Given the description of an element on the screen output the (x, y) to click on. 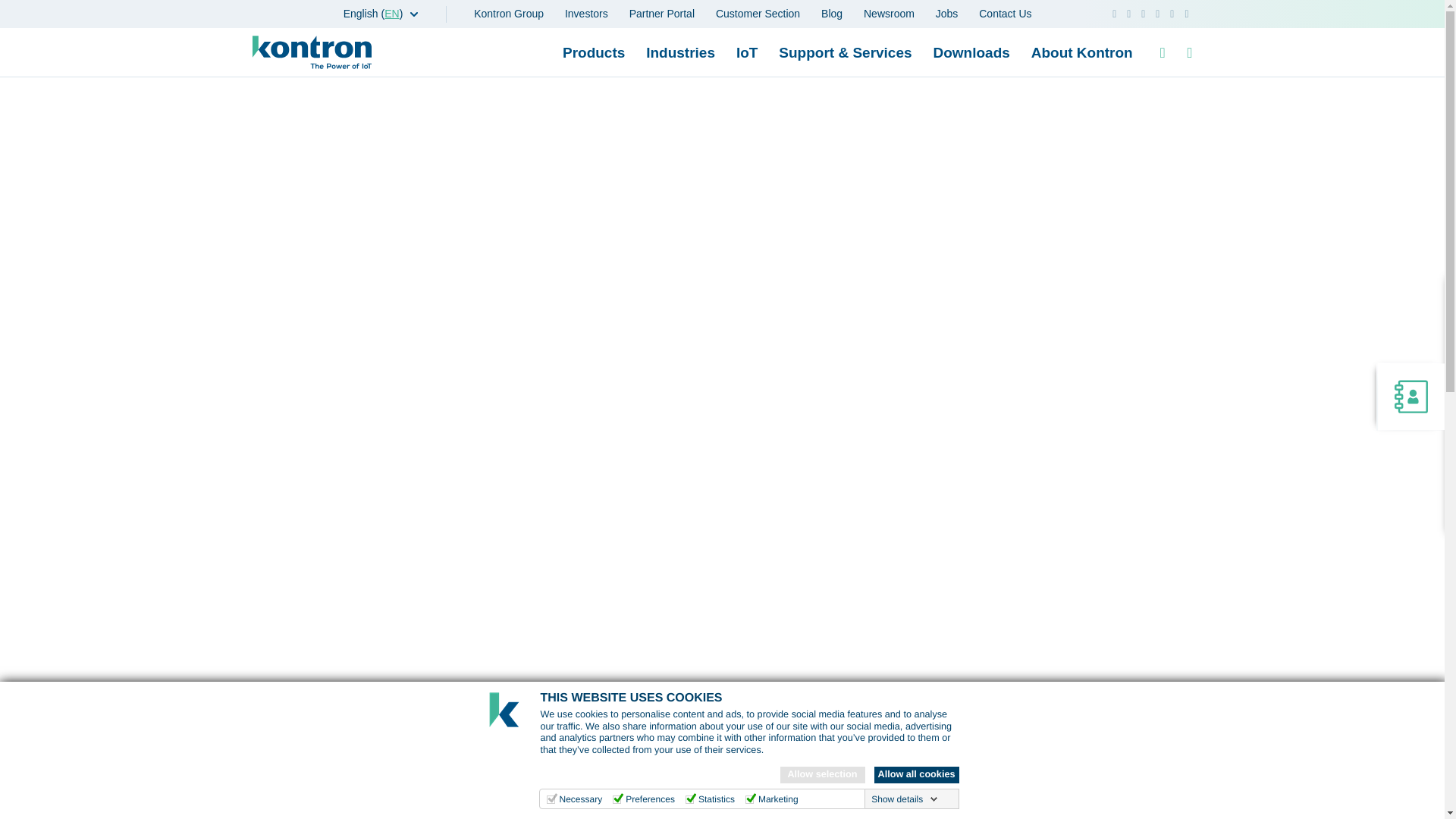
Allow all cookies (915, 774)
Allow selection (821, 774)
Show details (903, 799)
